Given the description of an element on the screen output the (x, y) to click on. 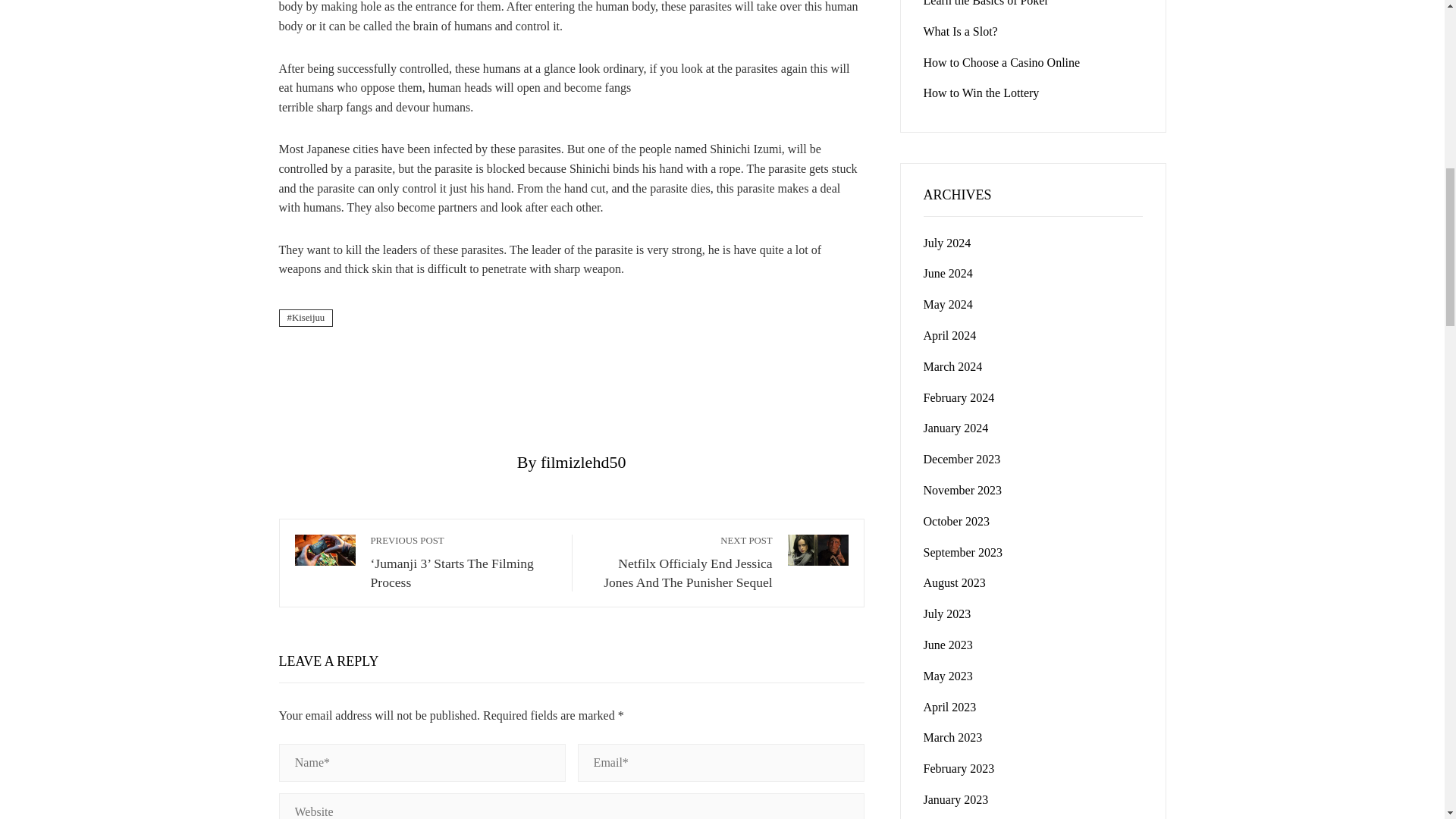
Kiseijuu (306, 317)
